Given the description of an element on the screen output the (x, y) to click on. 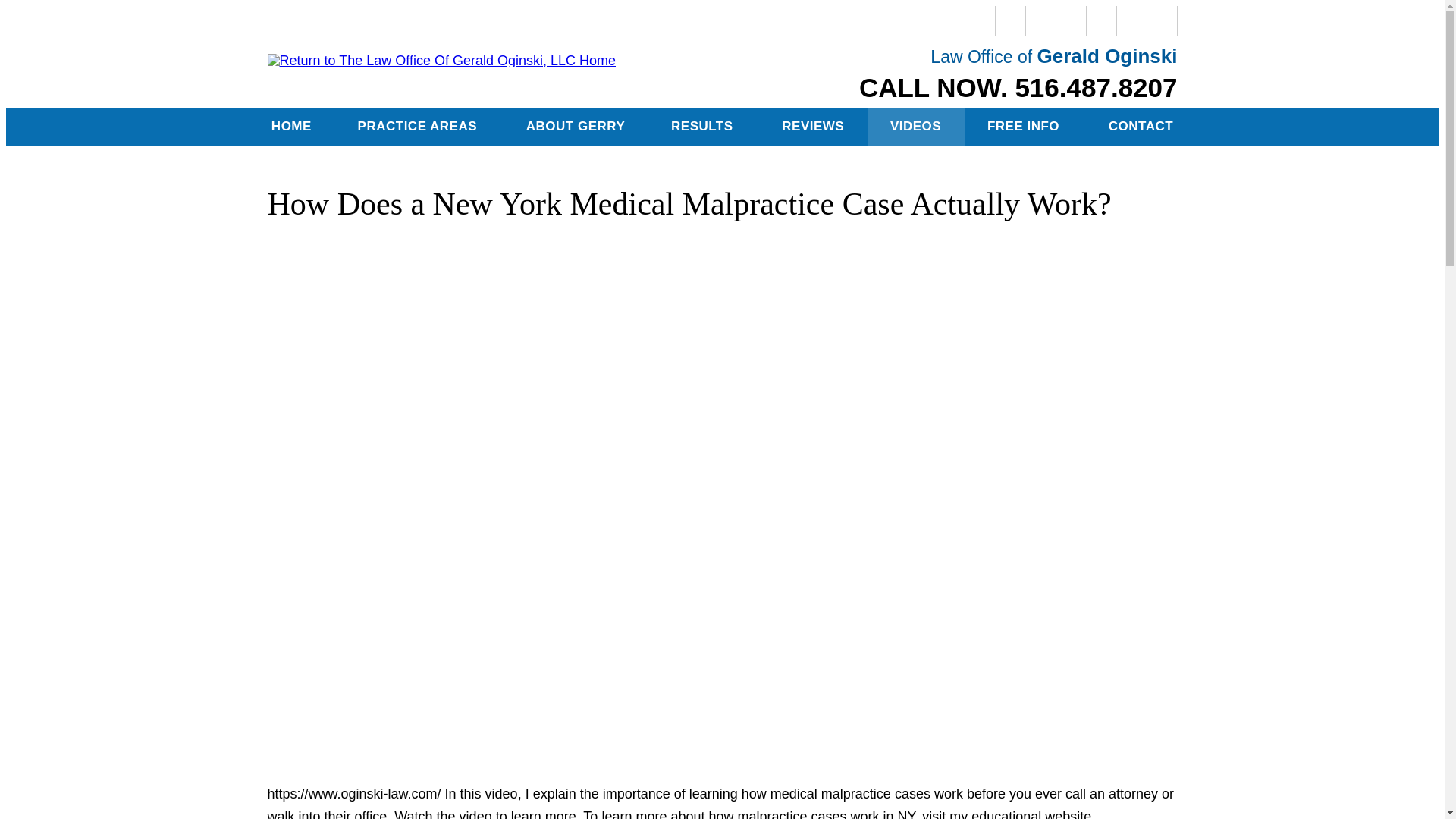
Search (1161, 20)
RESULTS (702, 126)
PRACTICE AREAS (418, 126)
CONTACT (1139, 126)
FREE INFO (1024, 126)
ABOUT GERRY (574, 126)
VIDEOS (915, 126)
REVIEWS (812, 126)
HOME (291, 126)
